Given the description of an element on the screen output the (x, y) to click on. 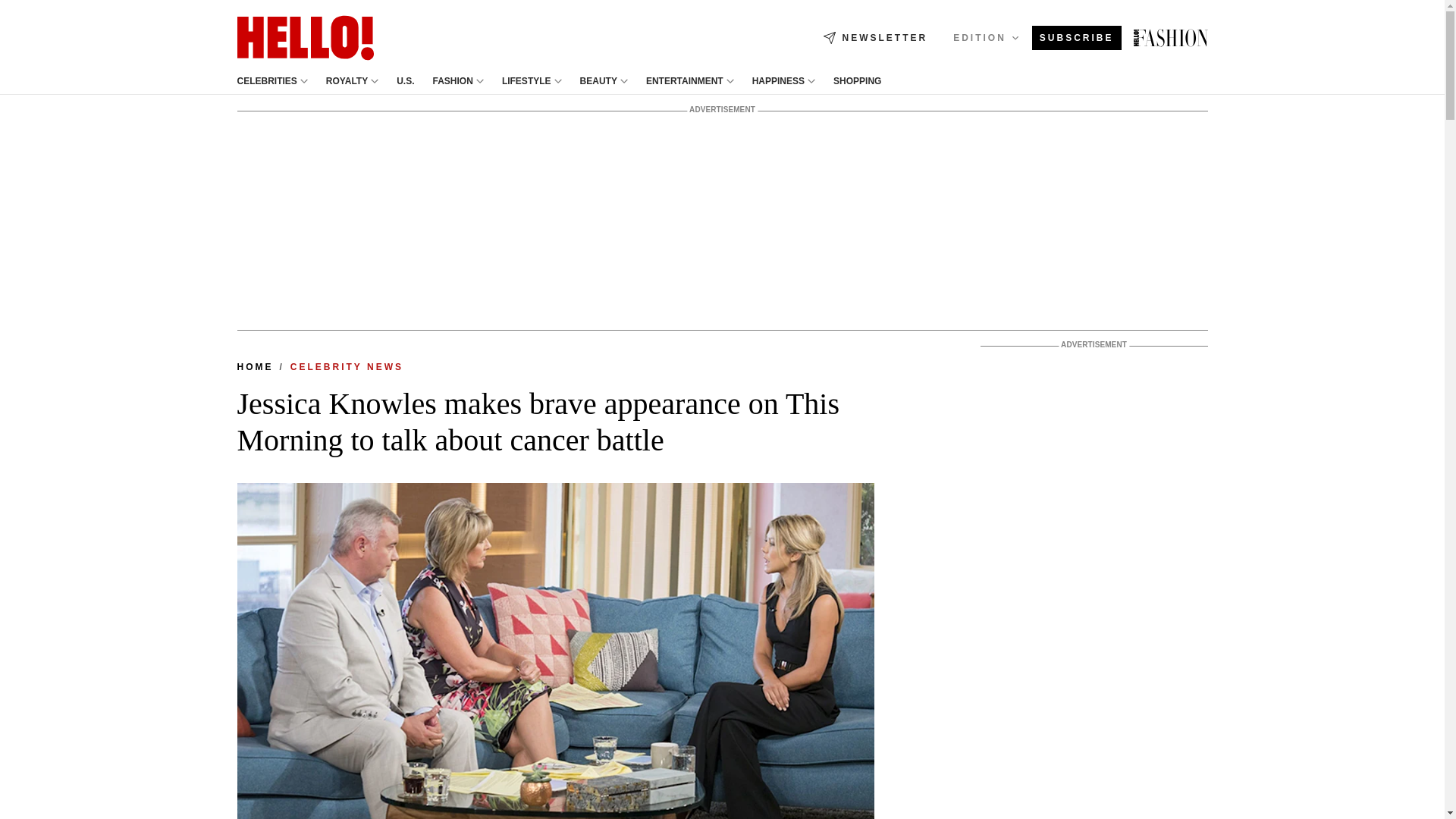
ROYALTY (347, 81)
CELEBRITIES (266, 81)
SUBSCRIBE (1076, 37)
EDITION (985, 37)
NEWSLETTER (875, 38)
FASHION (452, 81)
U.S. (404, 81)
